Given the description of an element on the screen output the (x, y) to click on. 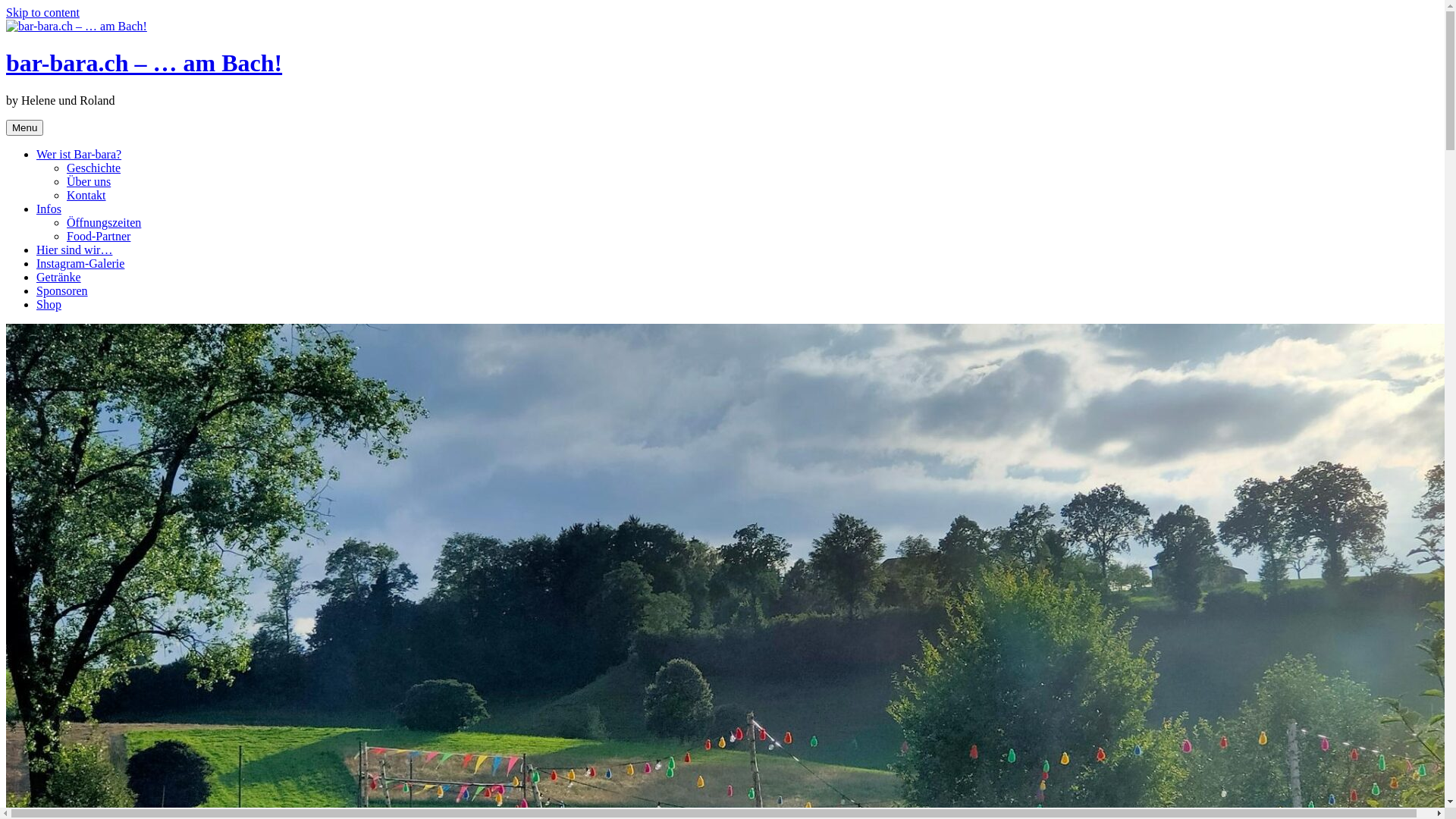
Menu Element type: text (24, 127)
Kontakt Element type: text (86, 194)
Wer ist Bar-bara? Element type: text (78, 153)
Geschichte Element type: text (93, 167)
Instagram-Galerie Element type: text (80, 263)
Infos Element type: text (48, 208)
Skip to content Element type: text (42, 12)
Sponsoren Element type: text (61, 290)
Food-Partner Element type: text (98, 235)
Shop Element type: text (48, 304)
